Given the description of an element on the screen output the (x, y) to click on. 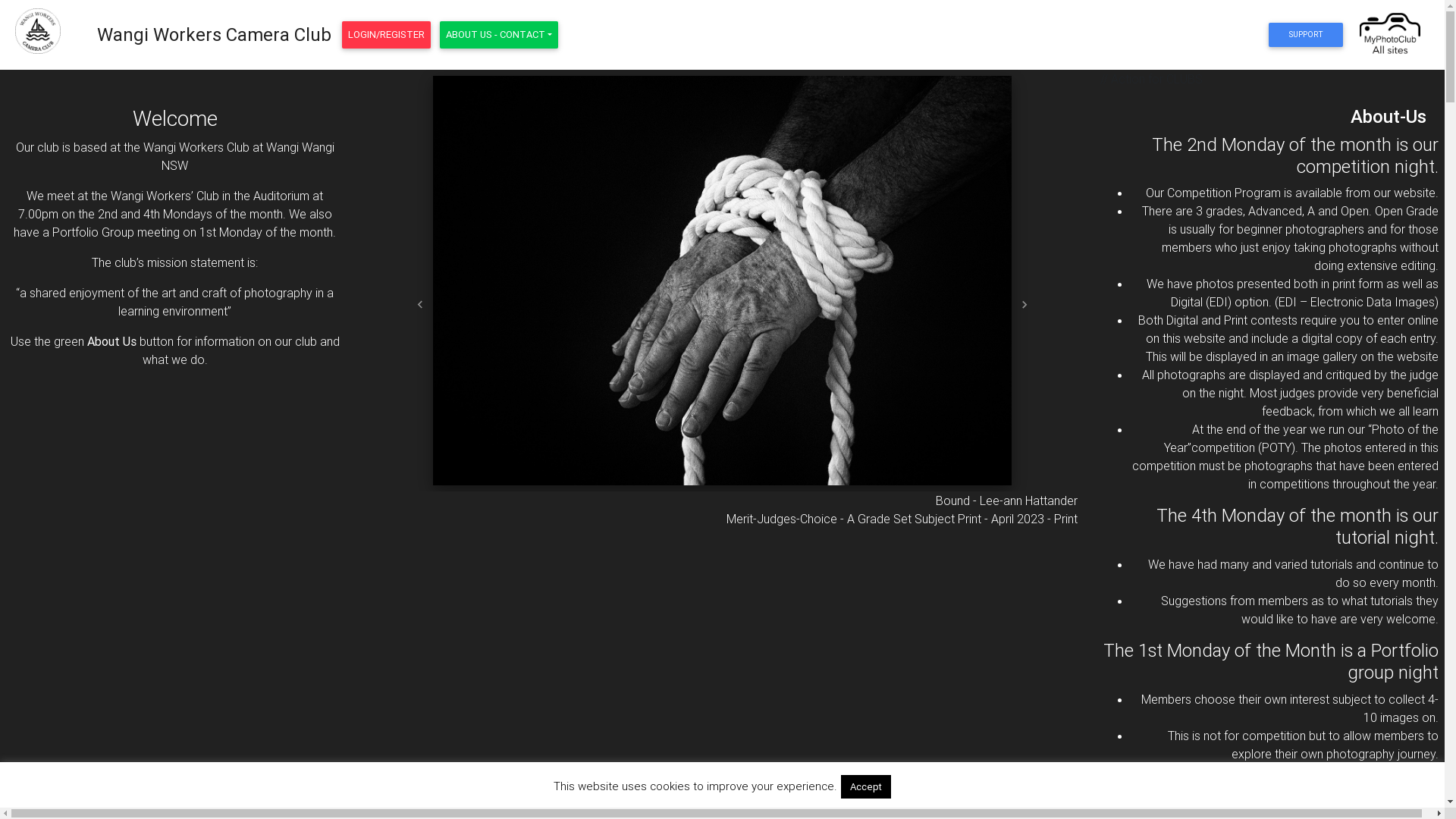
Wangi Workers Camera Club Element type: text (214, 35)
Previous Element type: text (420, 304)
Accept Element type: text (865, 786)
LOGIN/REGISTER Element type: text (386, 34)
SUPPORT Element type: text (1305, 34)
Next Element type: text (1024, 304)
ABOUT US - CONTACT Element type: text (498, 34)
